Given the description of an element on the screen output the (x, y) to click on. 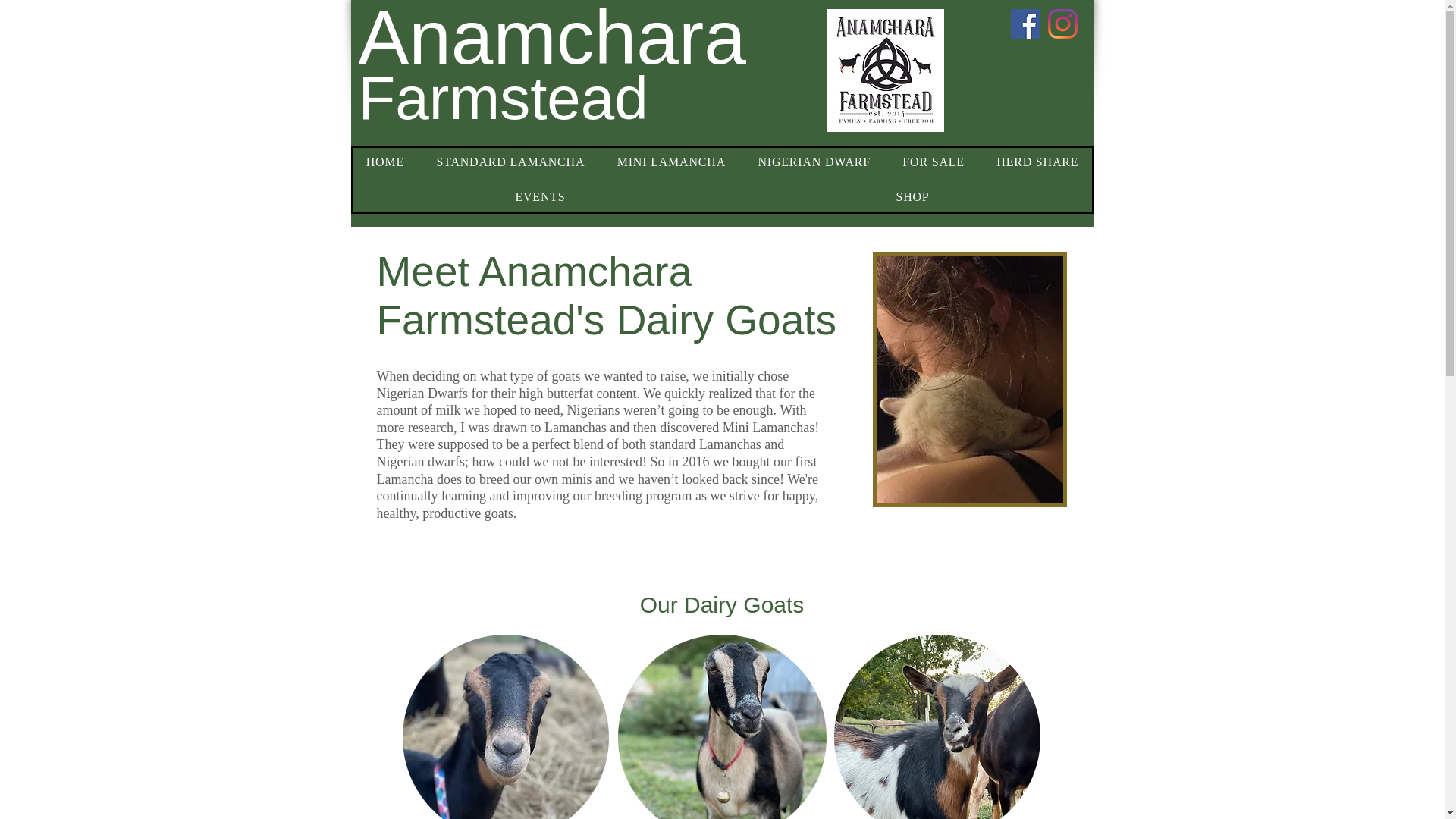
Anamchara Farmstead Nigerian Dwarfs (937, 726)
EVENTS (540, 196)
STANDARD LAMANCHA (509, 162)
HOME (385, 162)
Anamchara Farmstead Mini Lamanchas (721, 726)
NIGERIAN DWARF (813, 162)
SHOP (912, 196)
FOR SALE (932, 162)
Anamchara Farmstead (885, 70)
MINI LAMANCHA (671, 162)
